Given the description of an element on the screen output the (x, y) to click on. 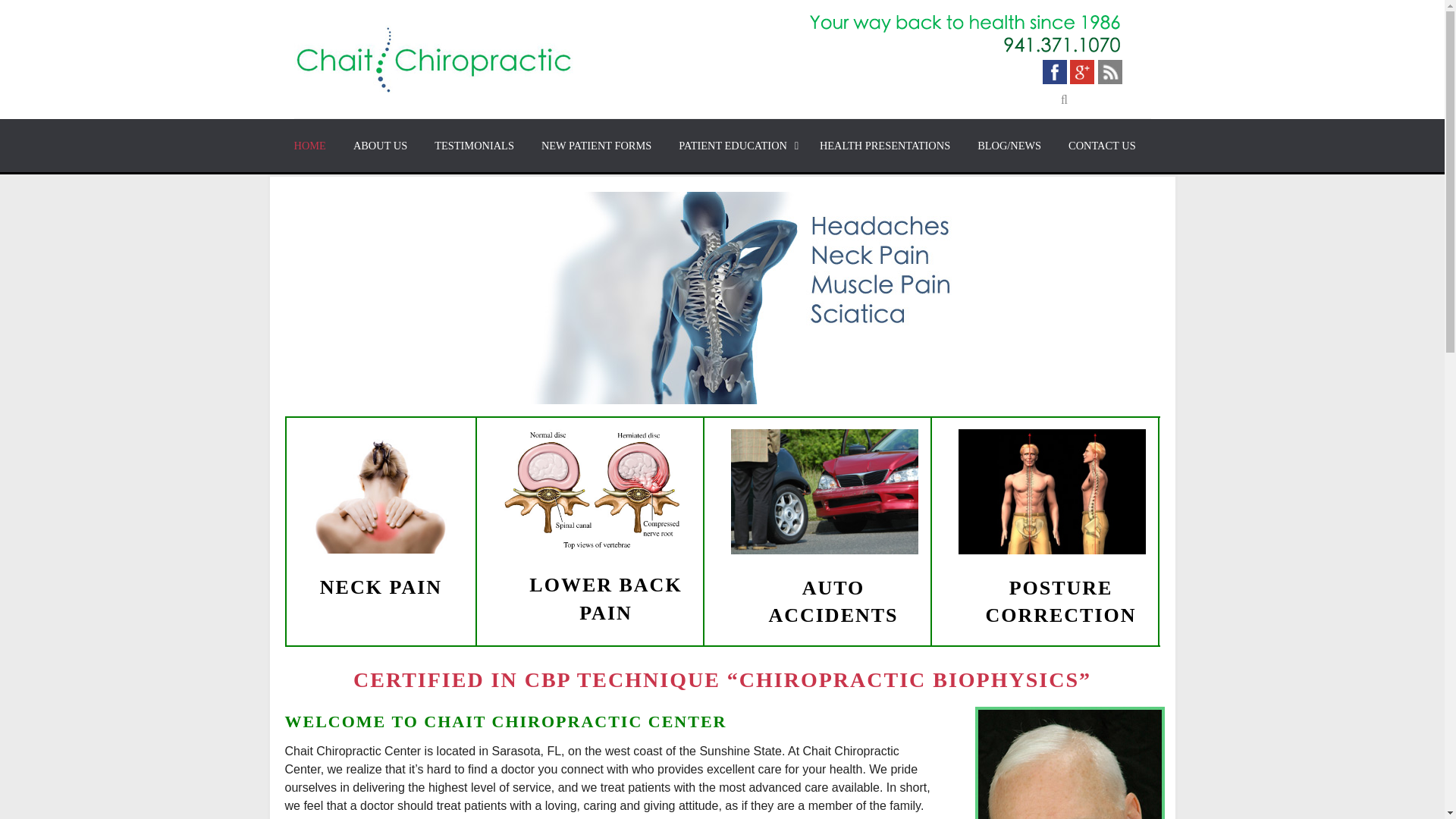
HEALTH PRESENTATIONS (884, 145)
TESTIMONIALS (473, 145)
CONTACT US (1102, 145)
HOME (316, 145)
PATIENT EDUCATION (735, 145)
ABOUT US (379, 145)
NEW PATIENT FORMS (596, 145)
